Given the description of an element on the screen output the (x, y) to click on. 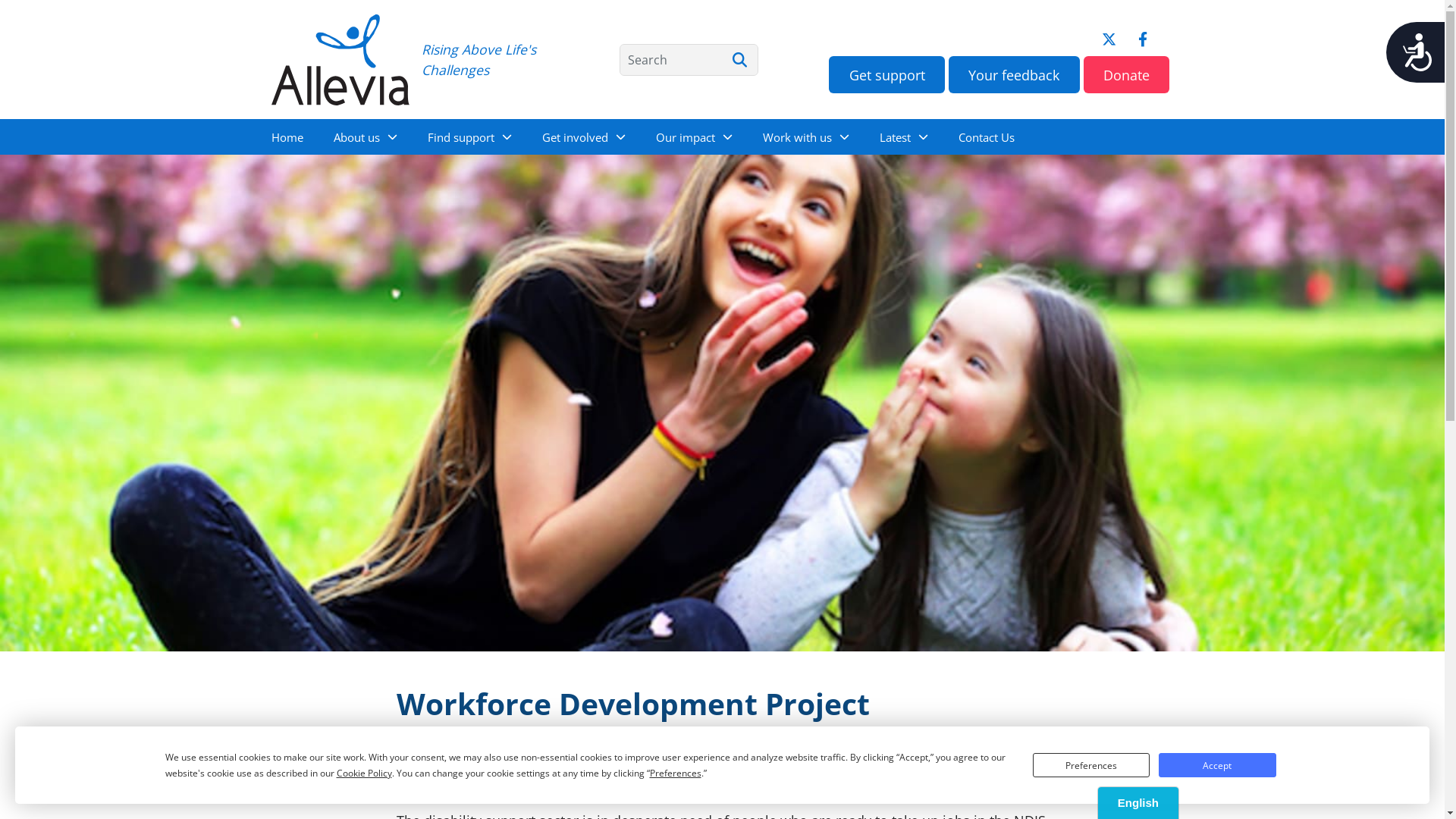
Our impact Element type: text (693, 136)
Get support Element type: text (886, 74)
Home Element type: text (287, 136)
AHSI Element type: text (522, 768)
Search Element type: text (739, 59)
Allevia Limited Element type: text (340, 59)
About us Element type: text (365, 136)
Preferences Element type: text (1090, 765)
Get involved Element type: text (583, 136)
Accept Element type: text (1216, 765)
Search Element type: hover (688, 59)
Find support Element type: text (469, 136)
Twitter Element type: text (1108, 39)
Contact Us Element type: text (986, 136)
Your feedback Element type: text (1013, 74)
Facebook Element type: text (1142, 39)
Donate Element type: text (1126, 74)
Work with us Element type: text (805, 136)
Latest Element type: text (903, 136)
Accessibility Element type: text (1413, 52)
